Given the description of an element on the screen output the (x, y) to click on. 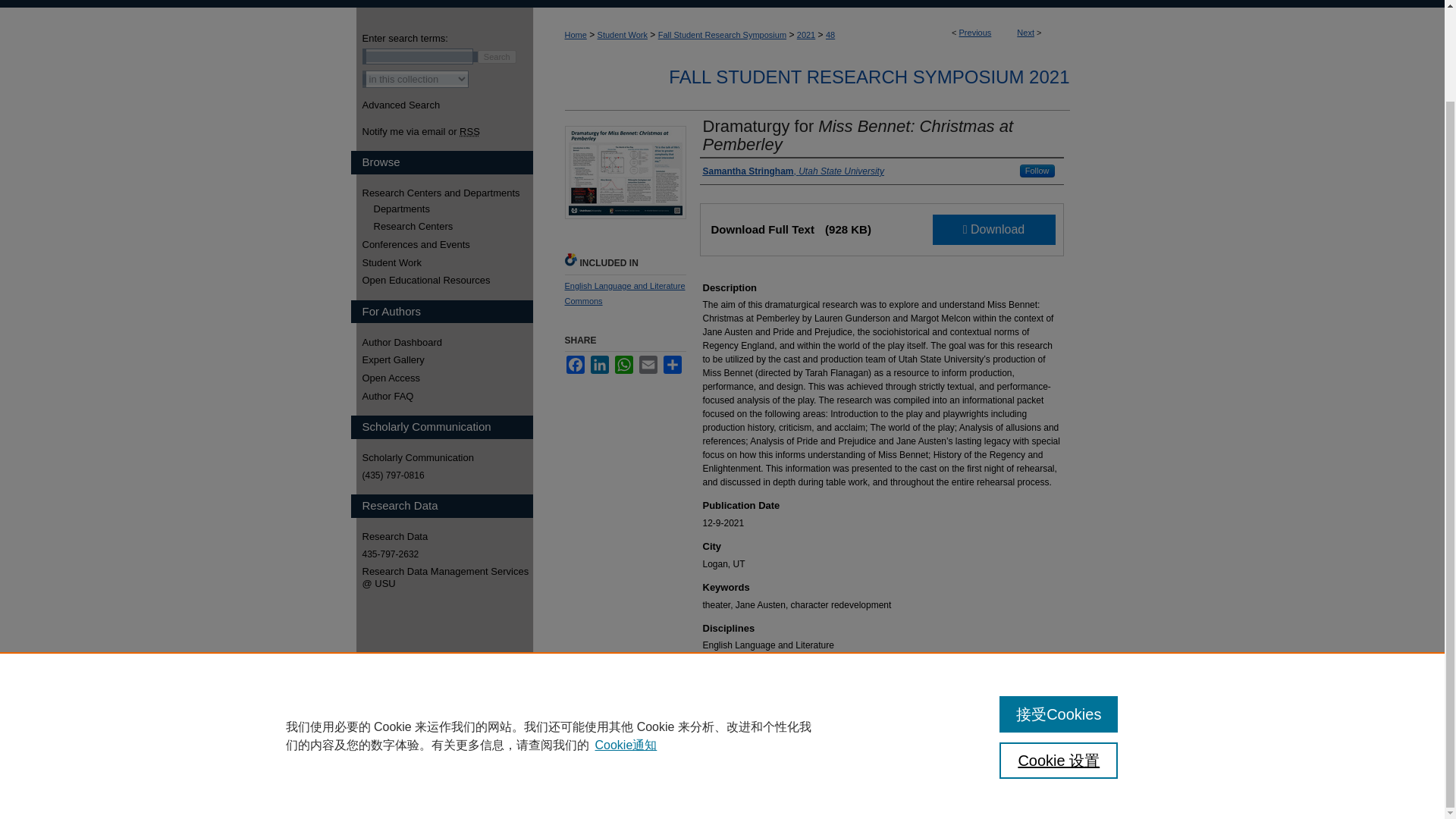
Samantha Stringham, Utah State University (792, 171)
LinkedIn (599, 364)
Follow Samantha Stringham (1037, 170)
Download (994, 229)
Search (496, 56)
Previous (975, 31)
Dramaturgy for Miss Bennet: Christmas at Pemberley (857, 135)
Search (496, 56)
Fall Student Research Symposium (722, 34)
Email (647, 364)
2021 (805, 34)
Advanced Search (401, 104)
Next (1024, 31)
Follow (1037, 170)
Home (575, 34)
